Given the description of an element on the screen output the (x, y) to click on. 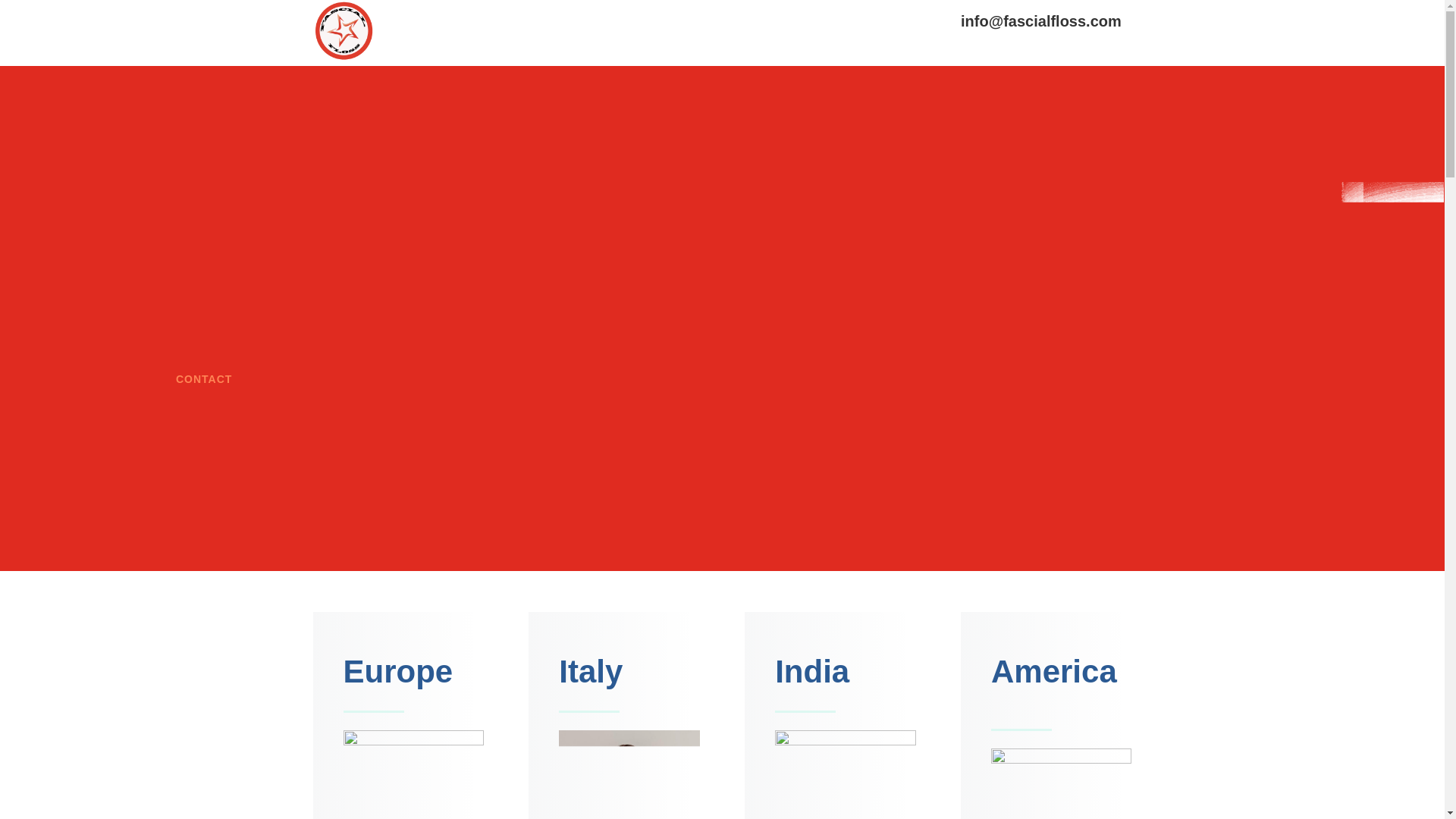
logoff (343, 31)
christian villella  (412, 774)
Marta Stancari (628, 774)
CONTACT (203, 379)
Chirag Verma (844, 774)
Gonzalo Velasquez (1061, 783)
